Given the description of an element on the screen output the (x, y) to click on. 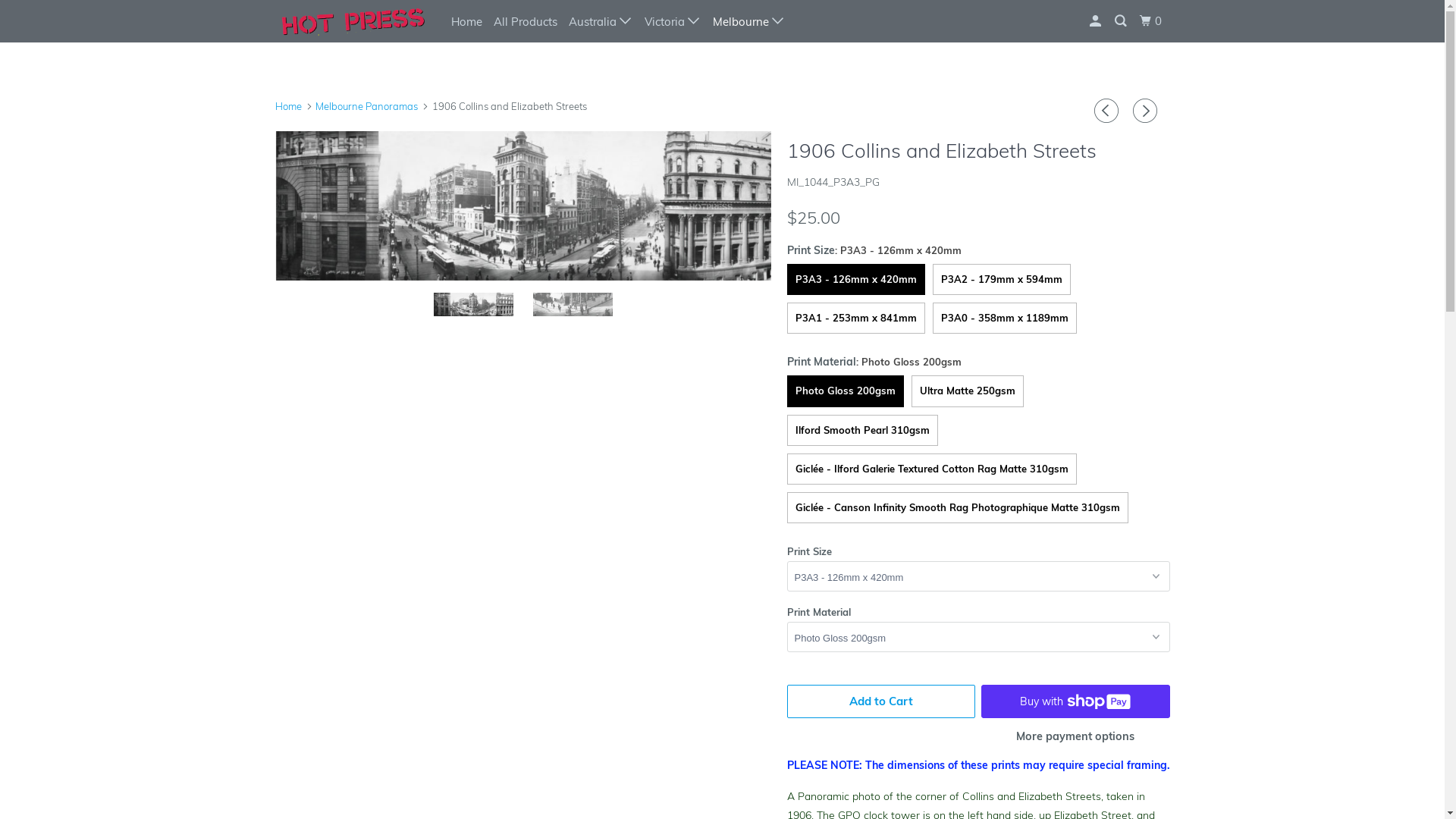
0 Element type: text (1151, 20)
HotPress Element type: hover (351, 20)
All Products Element type: text (524, 21)
More payment options Element type: text (1075, 741)
My Account  Element type: hover (1095, 20)
Home Element type: text (287, 106)
Melbourne Element type: text (748, 20)
Victoria Element type: text (672, 20)
1906 Collins and Elizabeth Streets Element type: hover (522, 205)
Search Element type: hover (1121, 20)
Melbourne Panoramas Element type: text (366, 106)
Previous Element type: hover (1108, 110)
Australia Element type: text (600, 20)
Add to Cart Element type: text (881, 701)
Home Element type: text (465, 21)
Next Element type: hover (1146, 110)
